Given the description of an element on the screen output the (x, y) to click on. 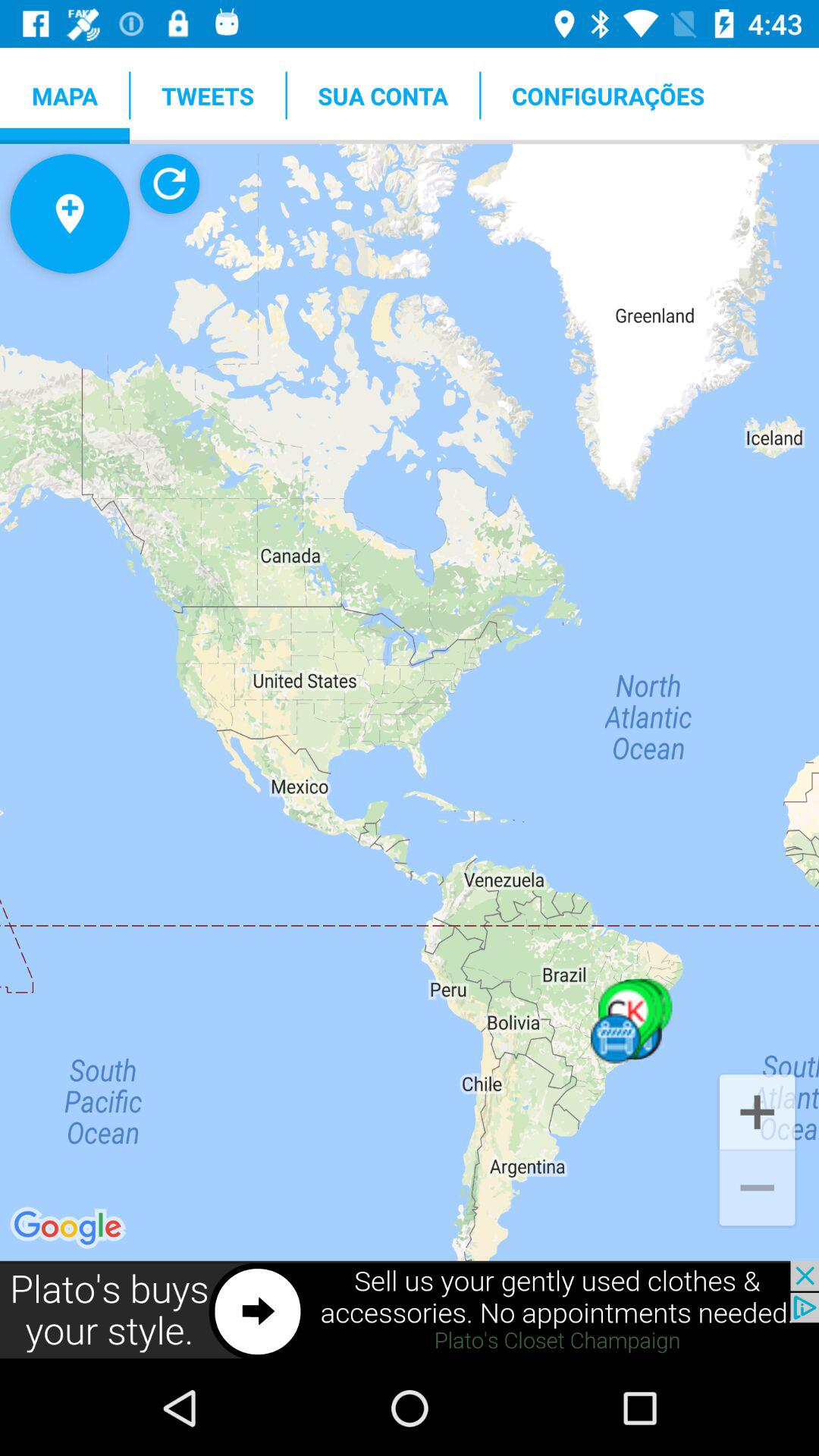
sell used clothing (409, 1310)
